Given the description of an element on the screen output the (x, y) to click on. 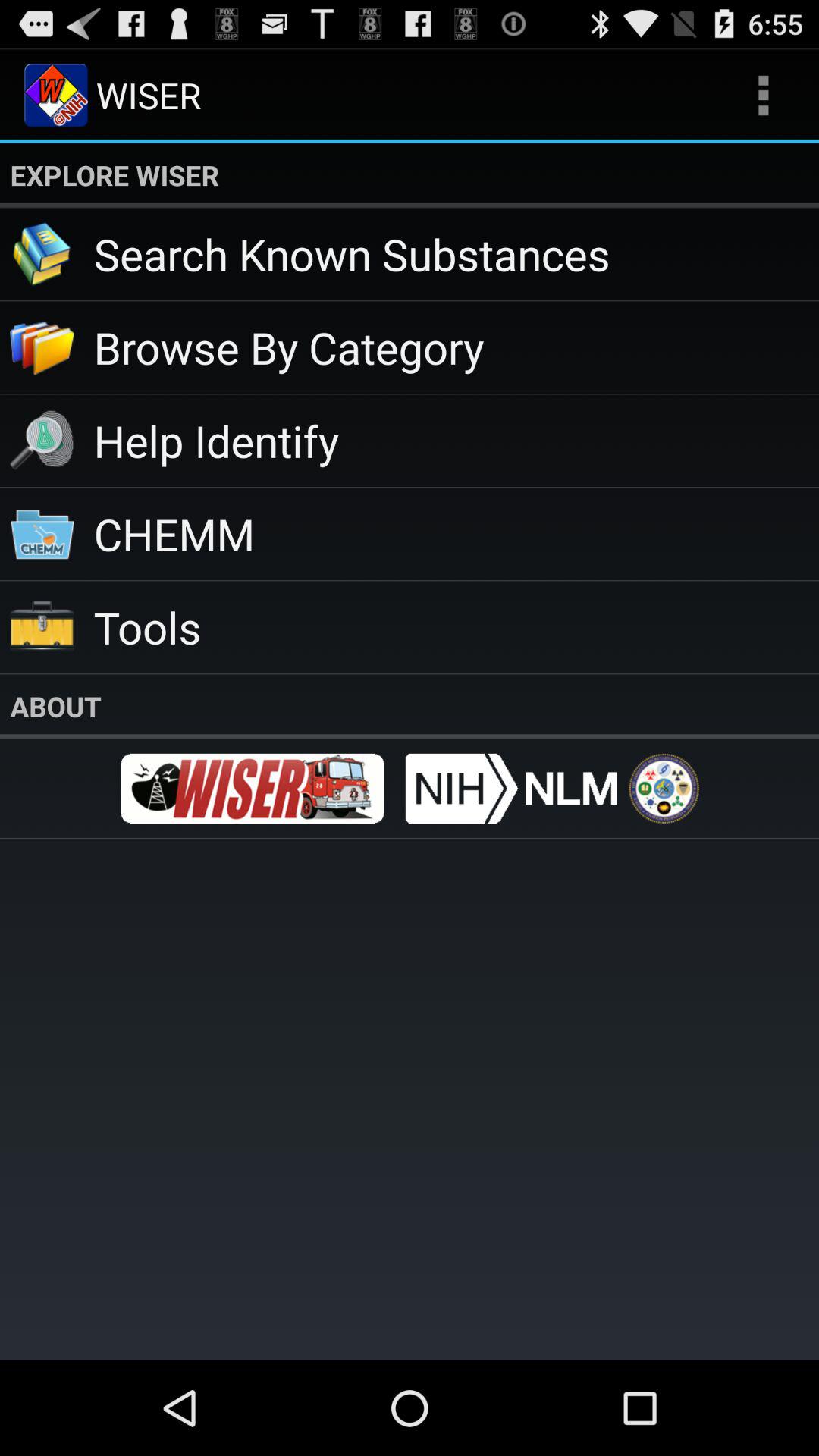
jump until search known substances app (456, 253)
